Given the description of an element on the screen output the (x, y) to click on. 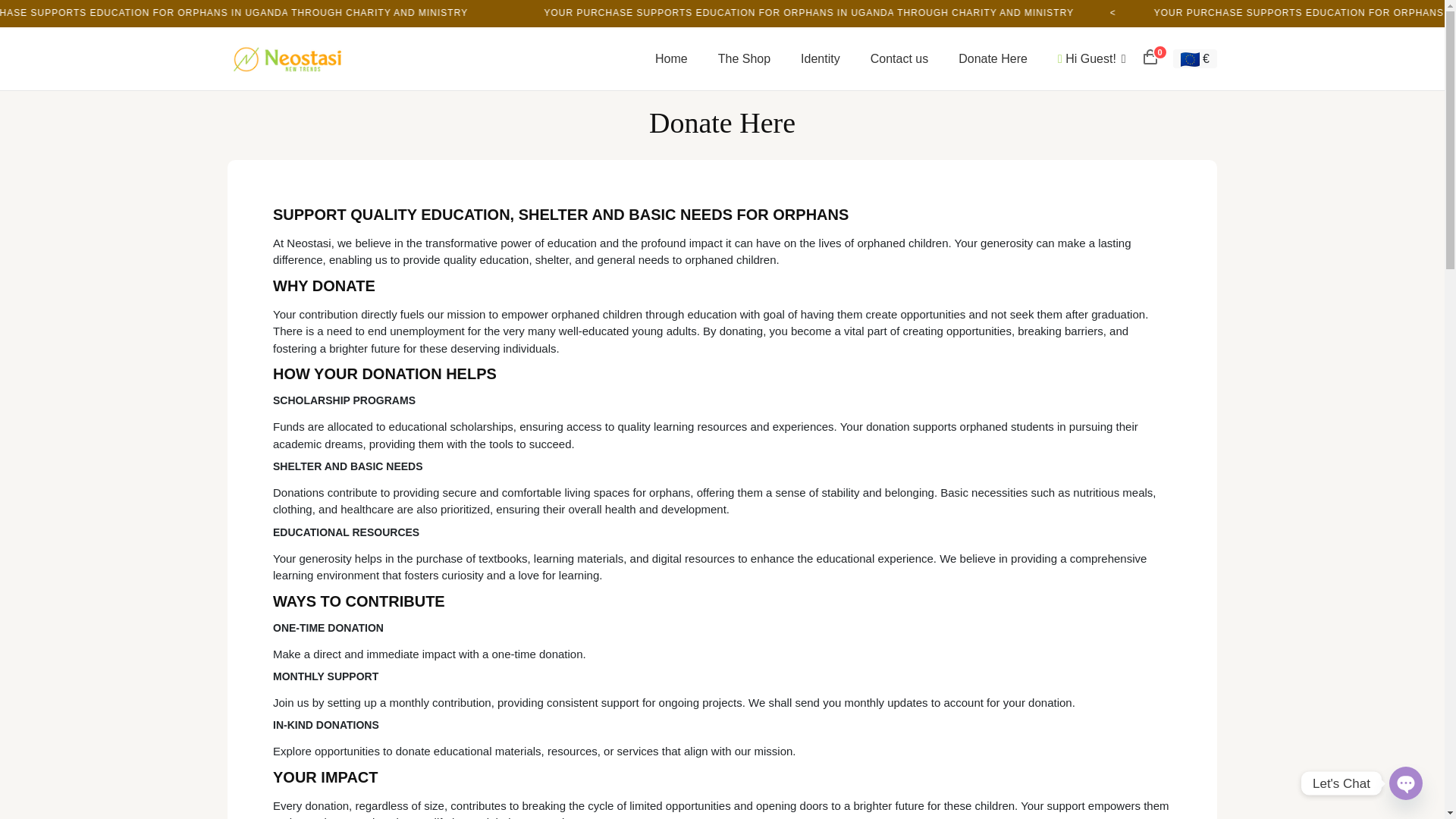
Identity (821, 58)
Donate Here (992, 58)
Contact us (899, 58)
Home (671, 58)
The Shop (744, 58)
0 (1149, 54)
Hi Guest! (1091, 58)
